Given the description of an element on the screen output the (x, y) to click on. 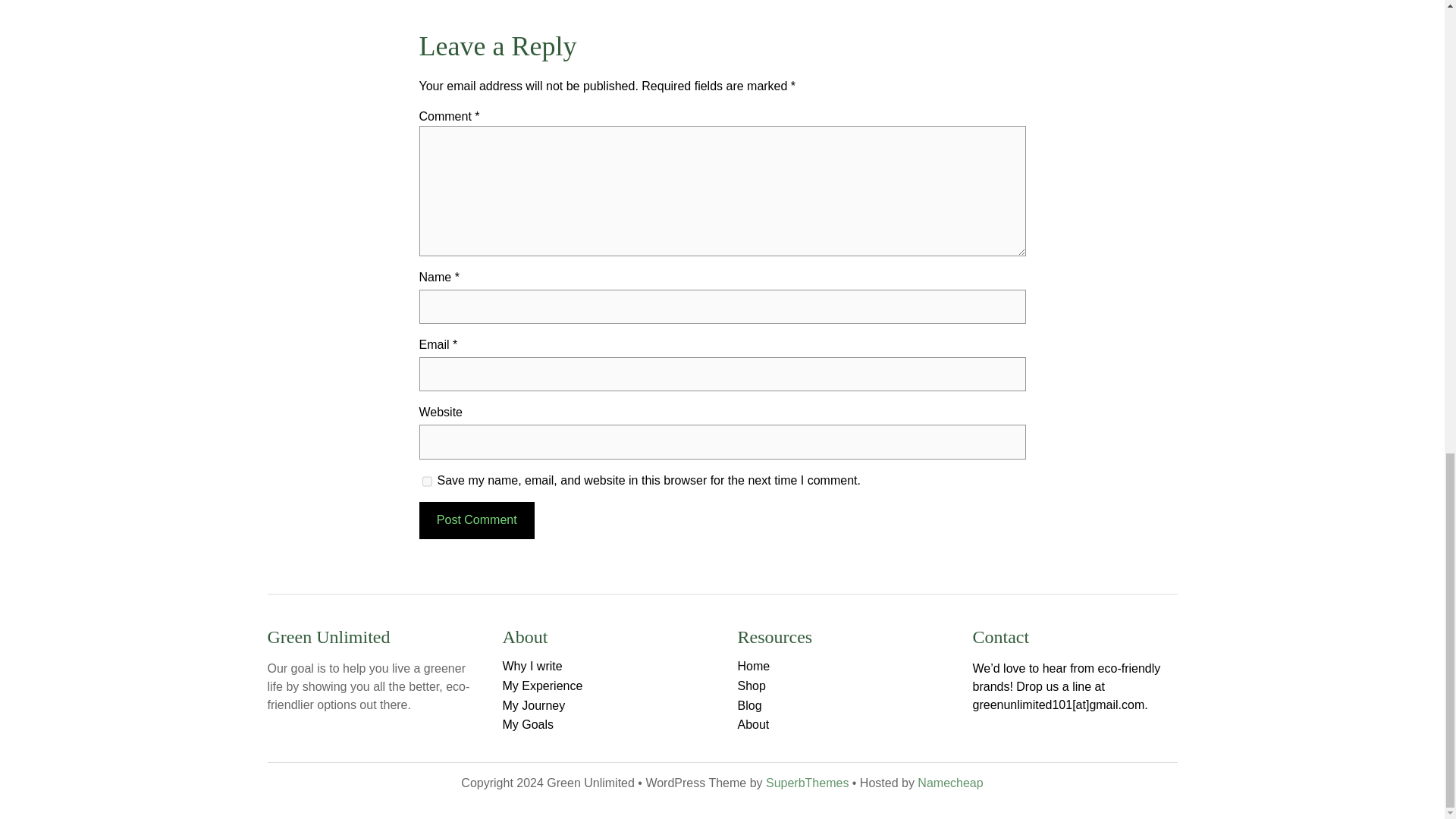
SuperbThemes (806, 782)
Post Comment (476, 520)
Why I write (532, 666)
My Journey (533, 705)
Post Comment (476, 520)
My Goals (527, 725)
My Experience (542, 685)
About (752, 725)
Namecheap (949, 782)
Blog (748, 705)
